Given the description of an element on the screen output the (x, y) to click on. 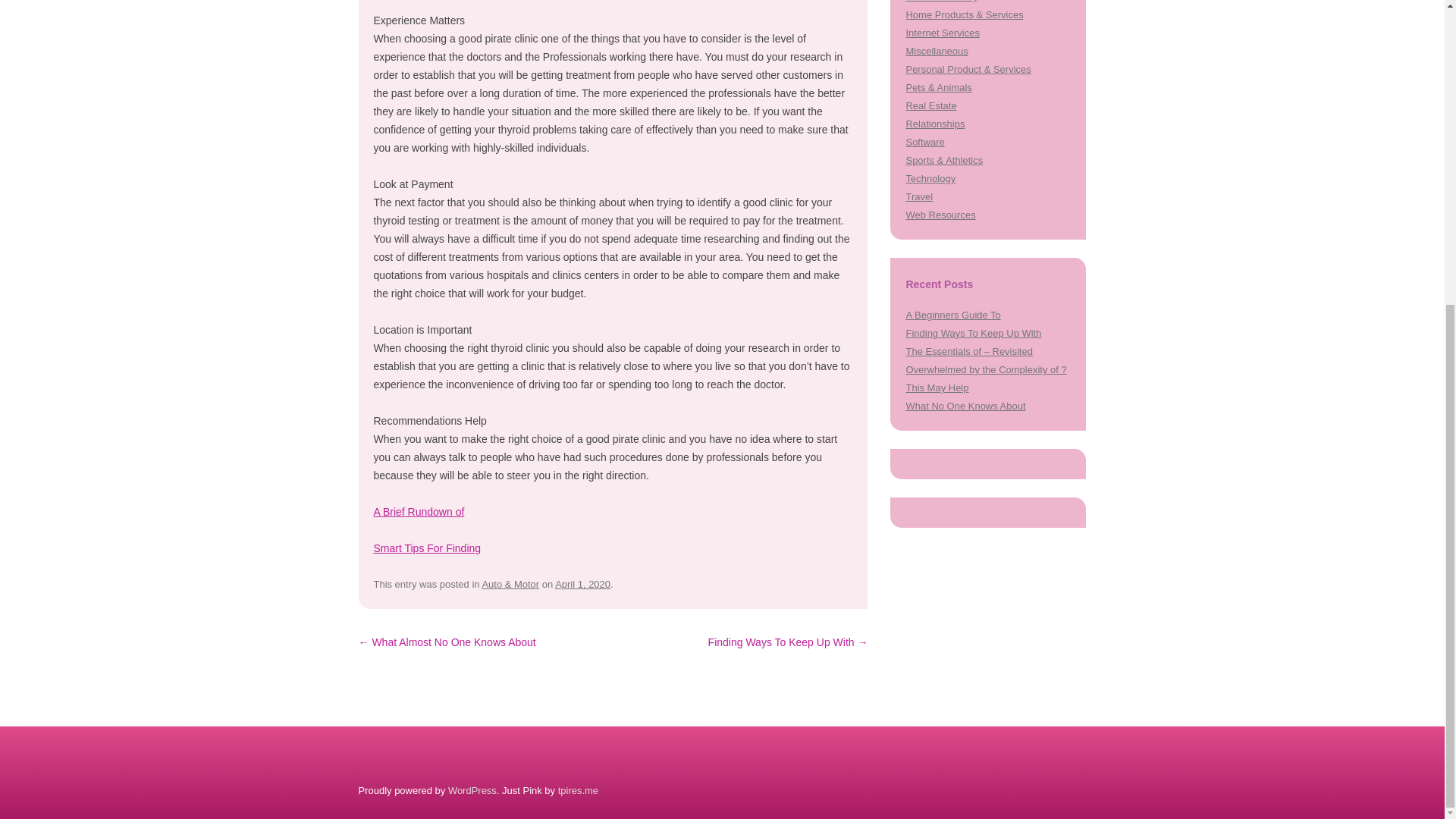
Internet Services (941, 32)
Semantic Personal Publishing Platform (472, 790)
Web Resources (940, 214)
Finding Ways To Keep Up With (973, 333)
Real Estate (930, 105)
A Beginners Guide To (952, 315)
A Brief Rundown of (418, 511)
Overwhelmed by the Complexity of ? This May Help (985, 378)
Travel (919, 196)
7:49 am (582, 583)
April 1, 2020 (582, 583)
home and family (940, 1)
Smart Tips For Finding (426, 548)
Miscellaneous (936, 50)
What No One Knows About (965, 405)
